Given the description of an element on the screen output the (x, y) to click on. 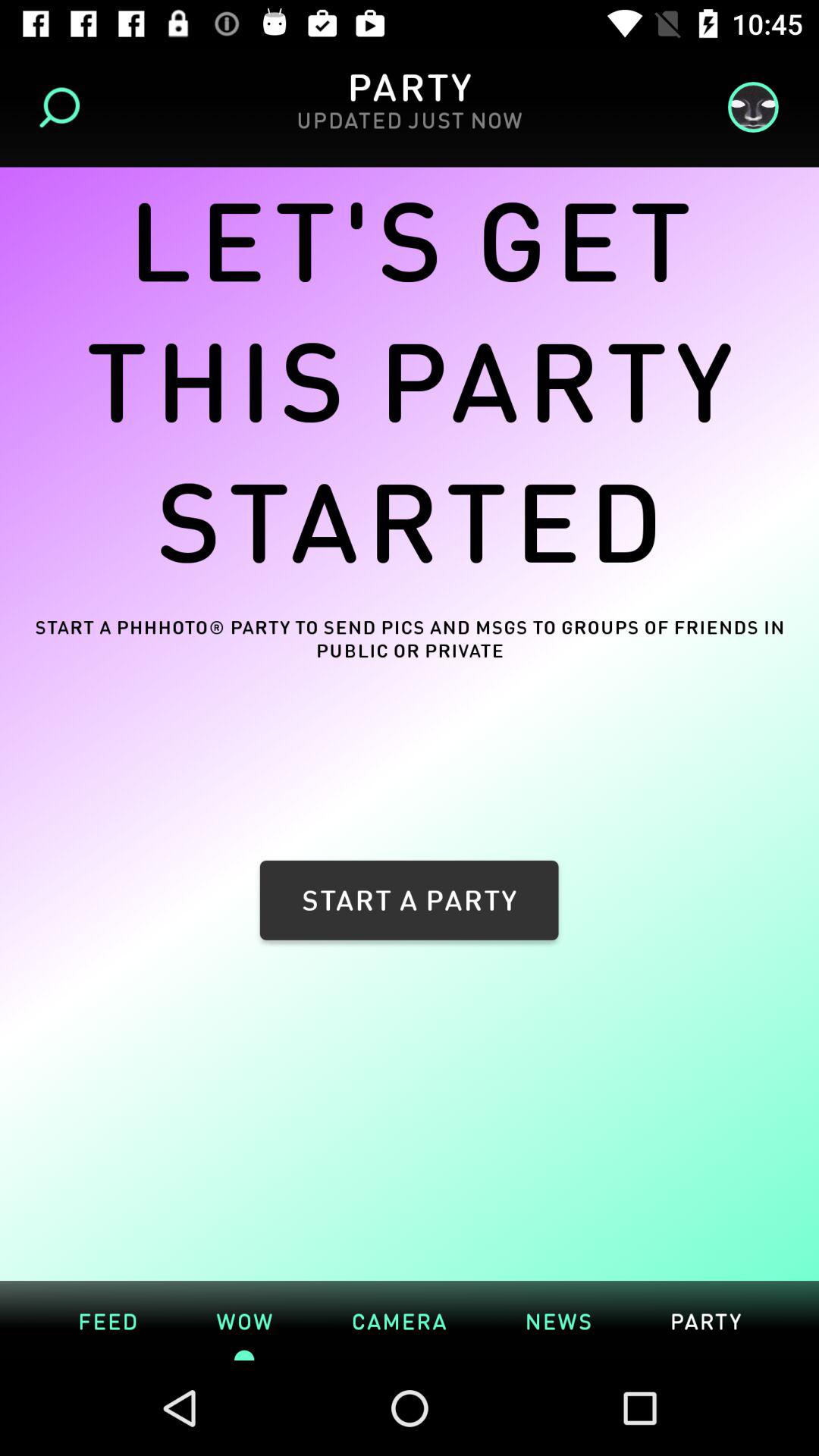
jump to camera icon (398, 1320)
